Given the description of an element on the screen output the (x, y) to click on. 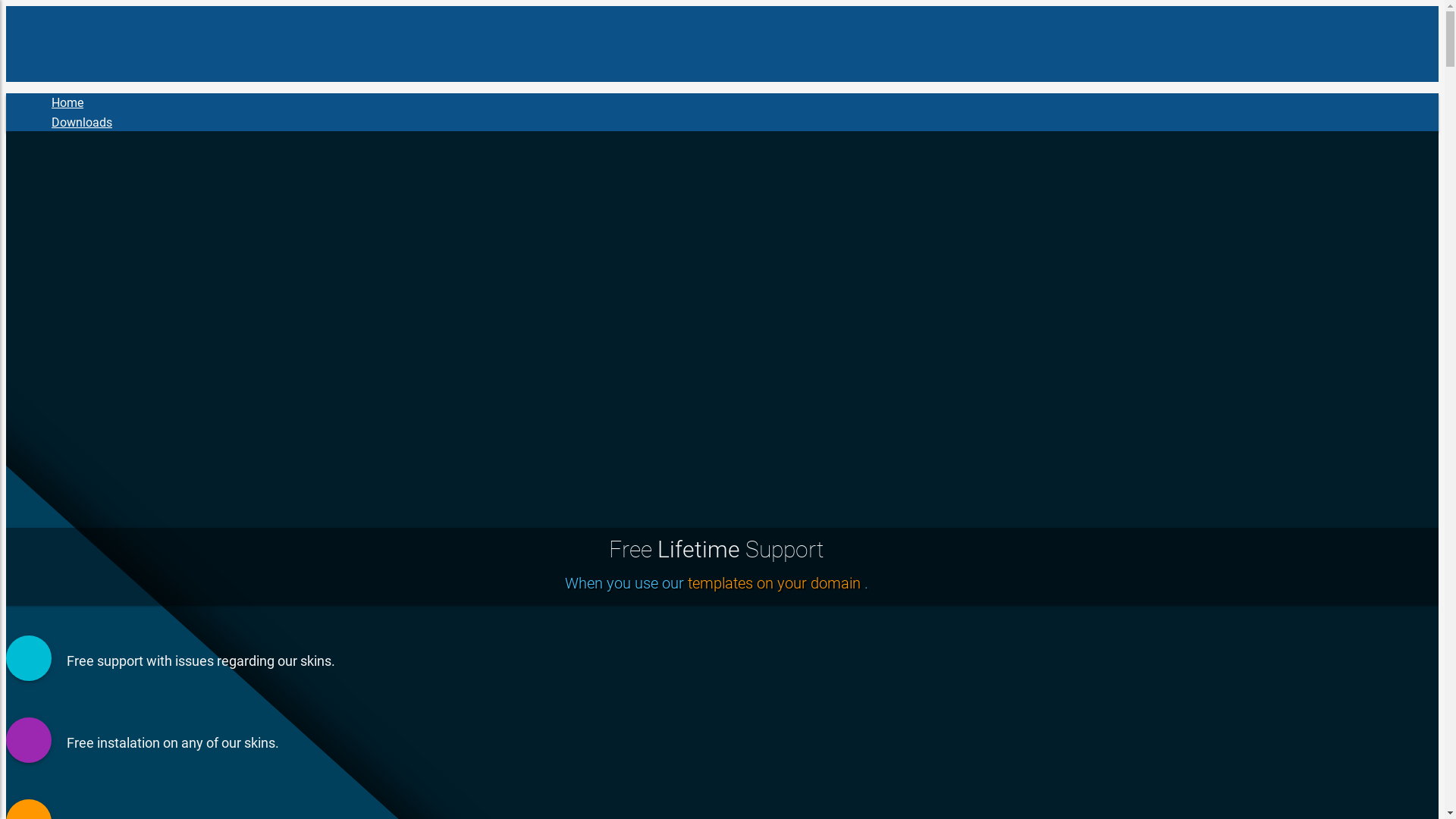
Downloads Element type: text (81, 122)
Home Element type: text (67, 102)
Support Element type: text (76, 161)
LIVE VIEW Element type: text (1253, 517)
READ MORE Element type: text (1381, 517)
